Given the description of an element on the screen output the (x, y) to click on. 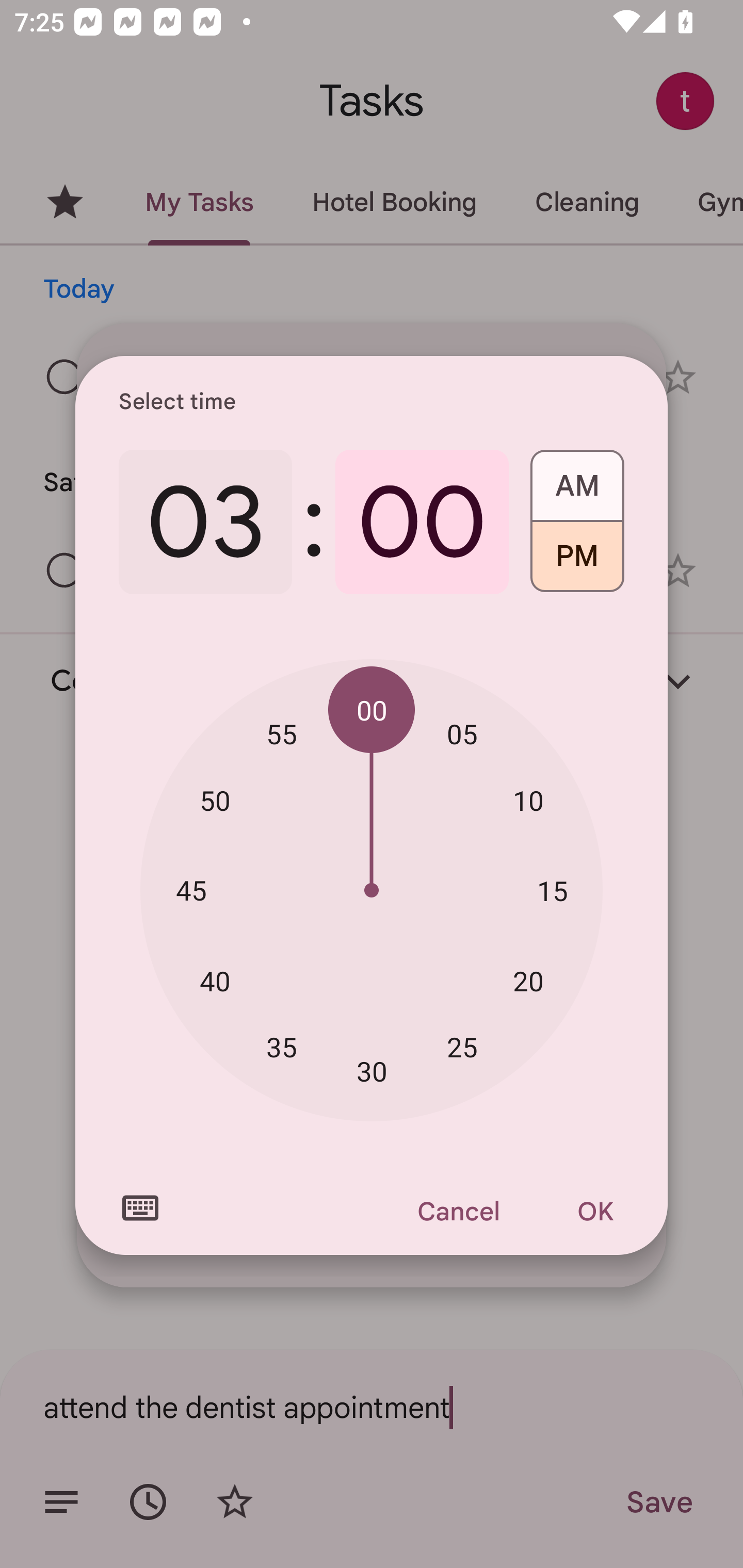
AM (577, 478)
03 3 o'clock (204, 522)
00 0 minutes (421, 522)
PM (577, 563)
00 00 minutes (371, 710)
55 55 minutes (281, 733)
05 05 minutes (462, 733)
50 50 minutes (214, 800)
10 10 minutes (528, 800)
45 45 minutes (190, 889)
15 15 minutes (551, 890)
40 40 minutes (214, 980)
20 20 minutes (528, 980)
35 35 minutes (281, 1046)
25 25 minutes (462, 1046)
30 30 minutes (371, 1071)
Switch to text input mode for the time input. (140, 1208)
Cancel (458, 1211)
OK (595, 1211)
